Given the description of an element on the screen output the (x, y) to click on. 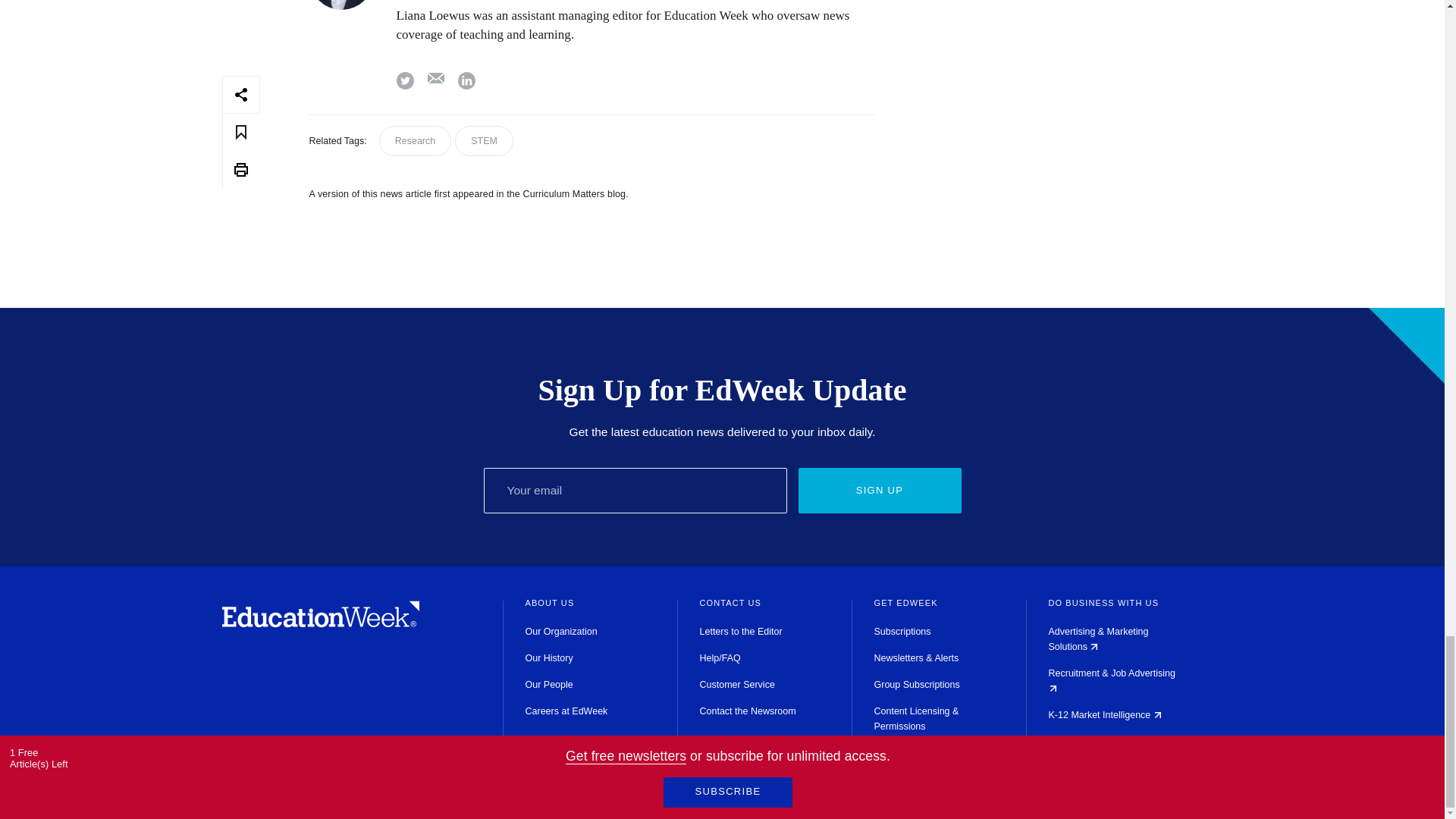
Homepage (320, 623)
